Given the description of an element on the screen output the (x, y) to click on. 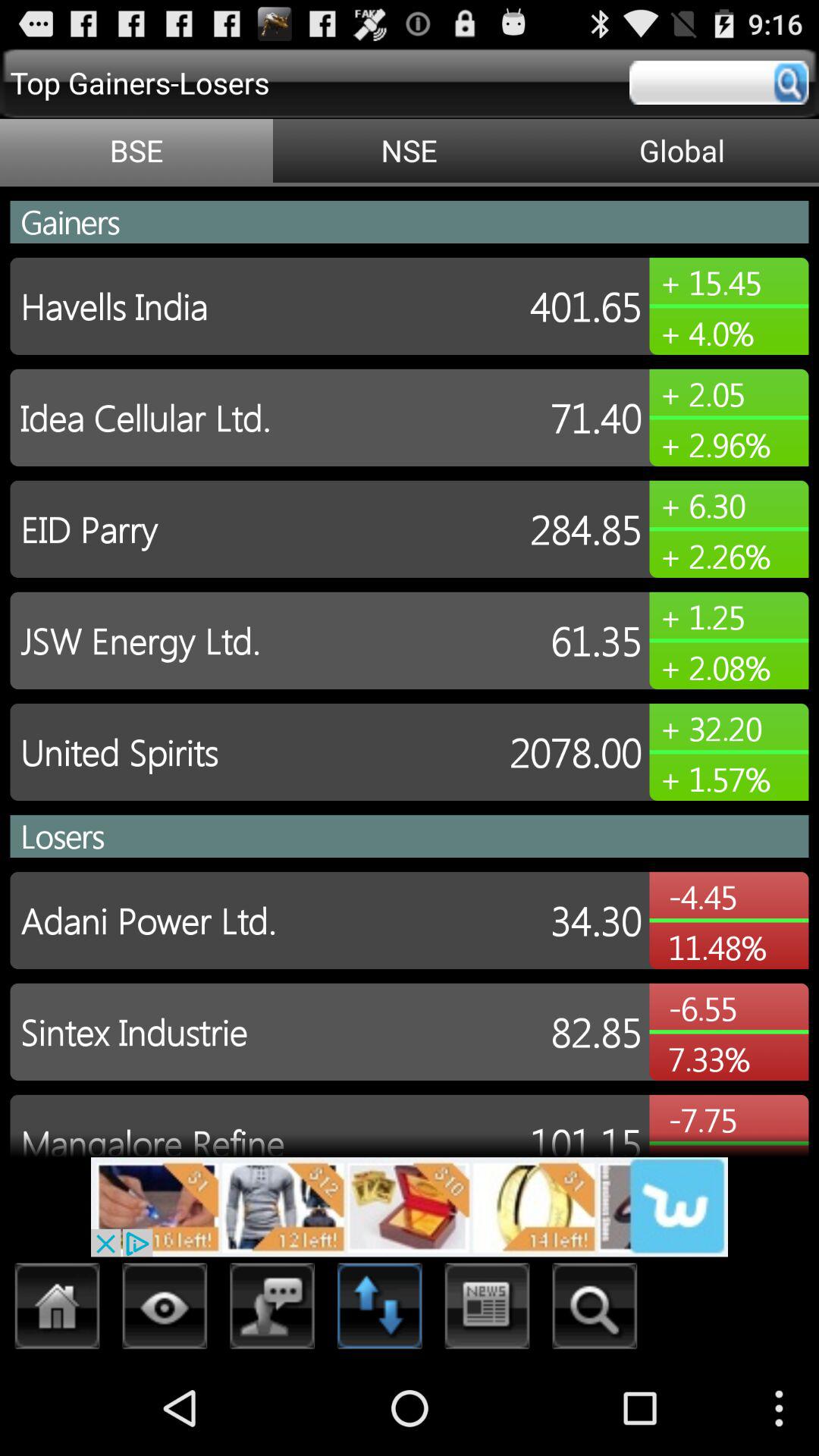
go to home (57, 1310)
